Given the description of an element on the screen output the (x, y) to click on. 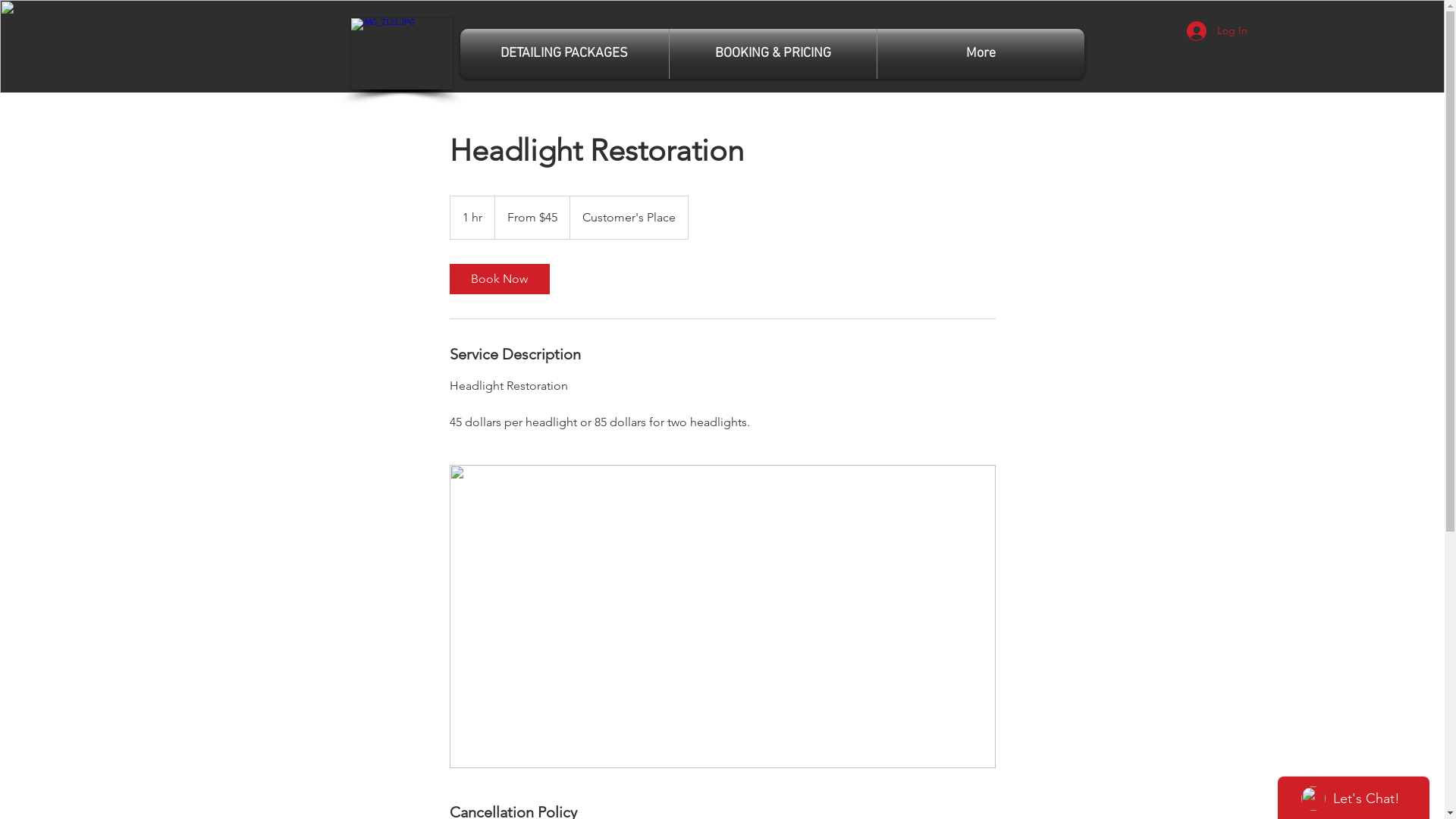
Log In Element type: text (1216, 30)
BOOKING & PRICING Element type: text (771, 53)
Book Now Element type: text (498, 278)
DETAILING PACKAGES Element type: text (563, 53)
car detailing in perth  Element type: hover (400, 53)
